Given the description of an element on the screen output the (x, y) to click on. 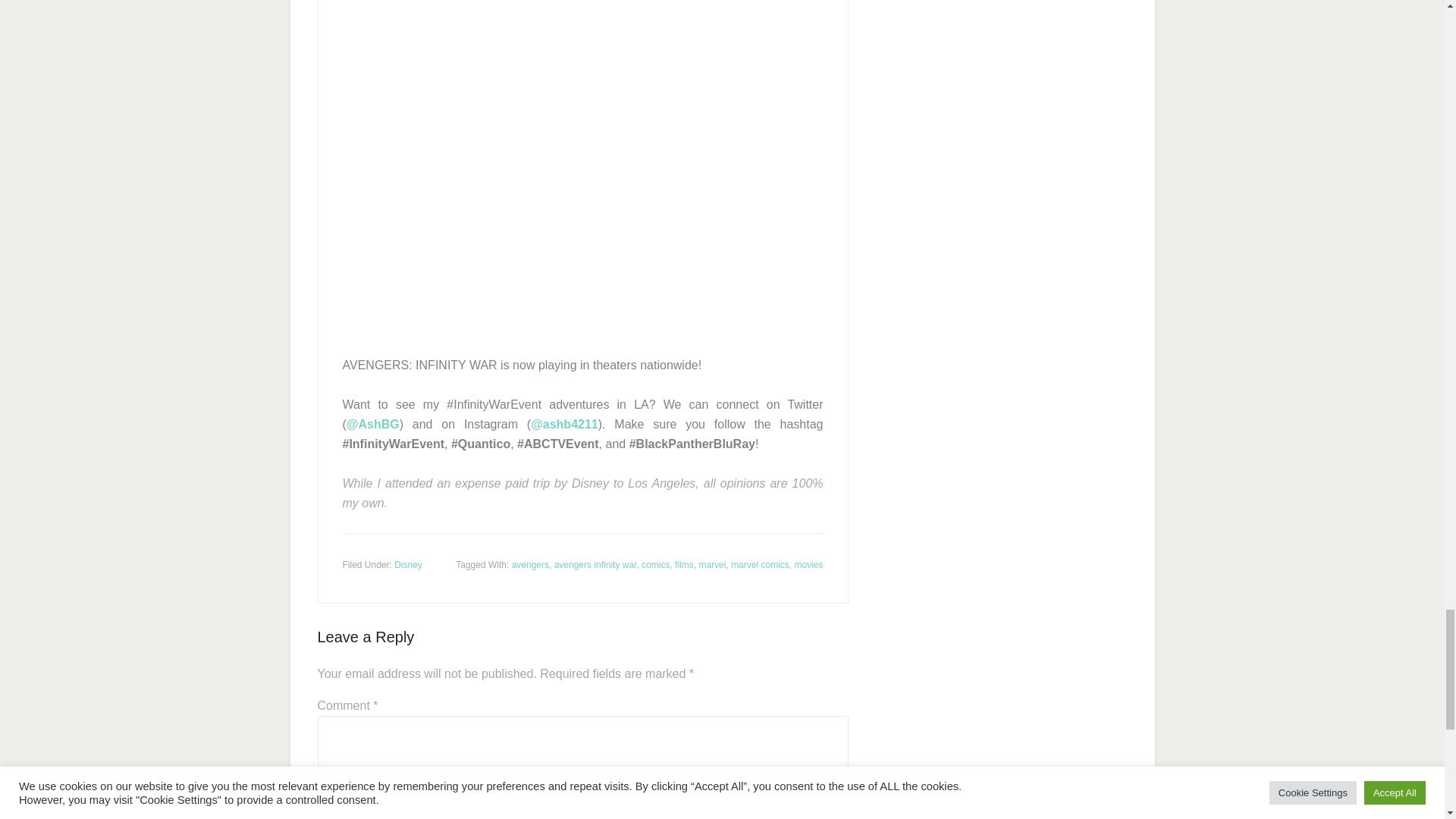
marvel (711, 564)
films (684, 564)
Disney (408, 564)
avengers infinity war (595, 564)
comics (655, 564)
avengers (530, 564)
